Given the description of an element on the screen output the (x, y) to click on. 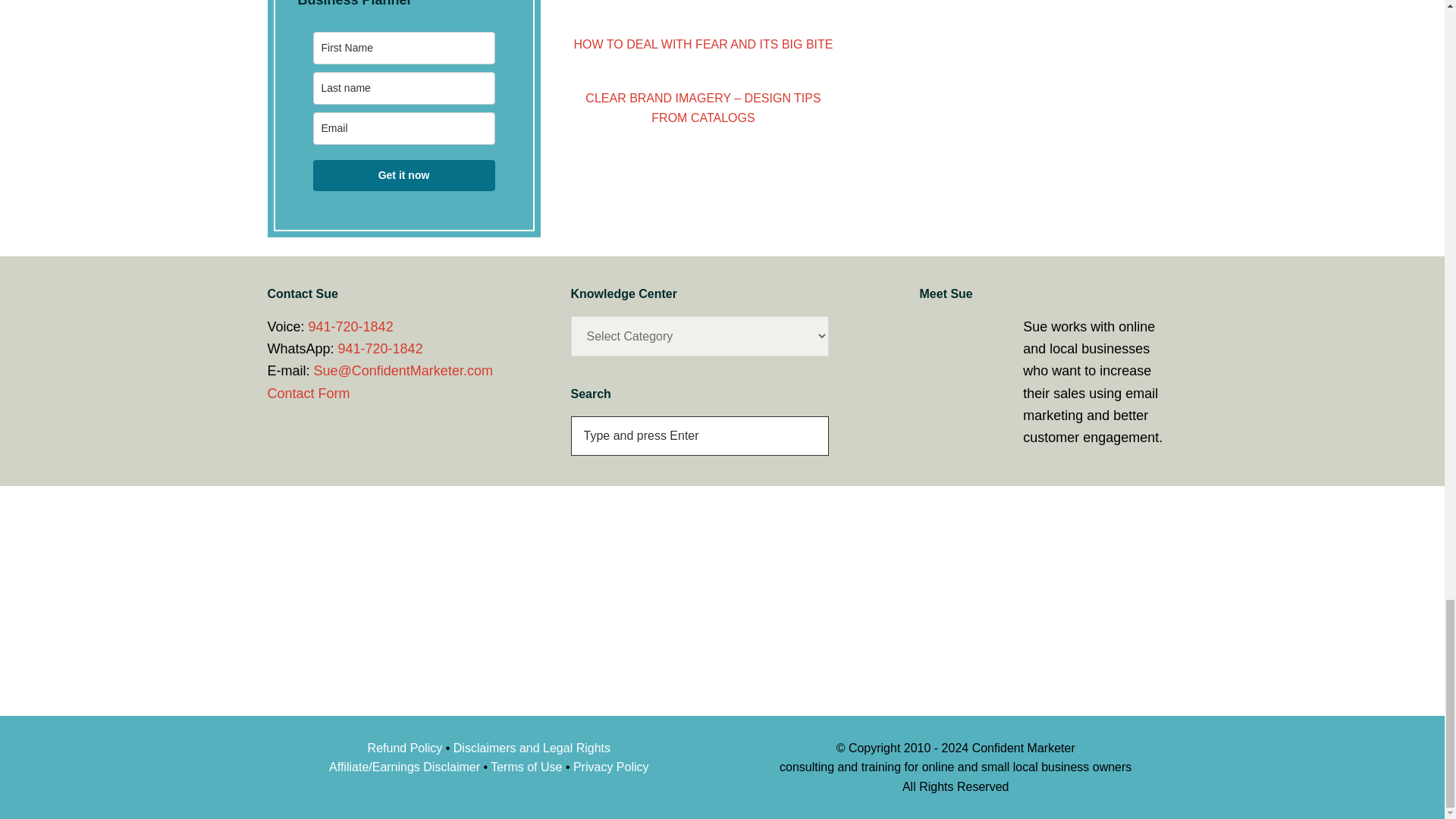
Click to call 941-720-1842 (350, 326)
Certified Email Marketing Specialist (476, 557)
Click to call 941-720-1842 (380, 348)
Permanent Link toHow to Deal With Fear and Its Big Bite (702, 43)
EPC Institute (476, 601)
Get it now (404, 174)
